Given the description of an element on the screen output the (x, y) to click on. 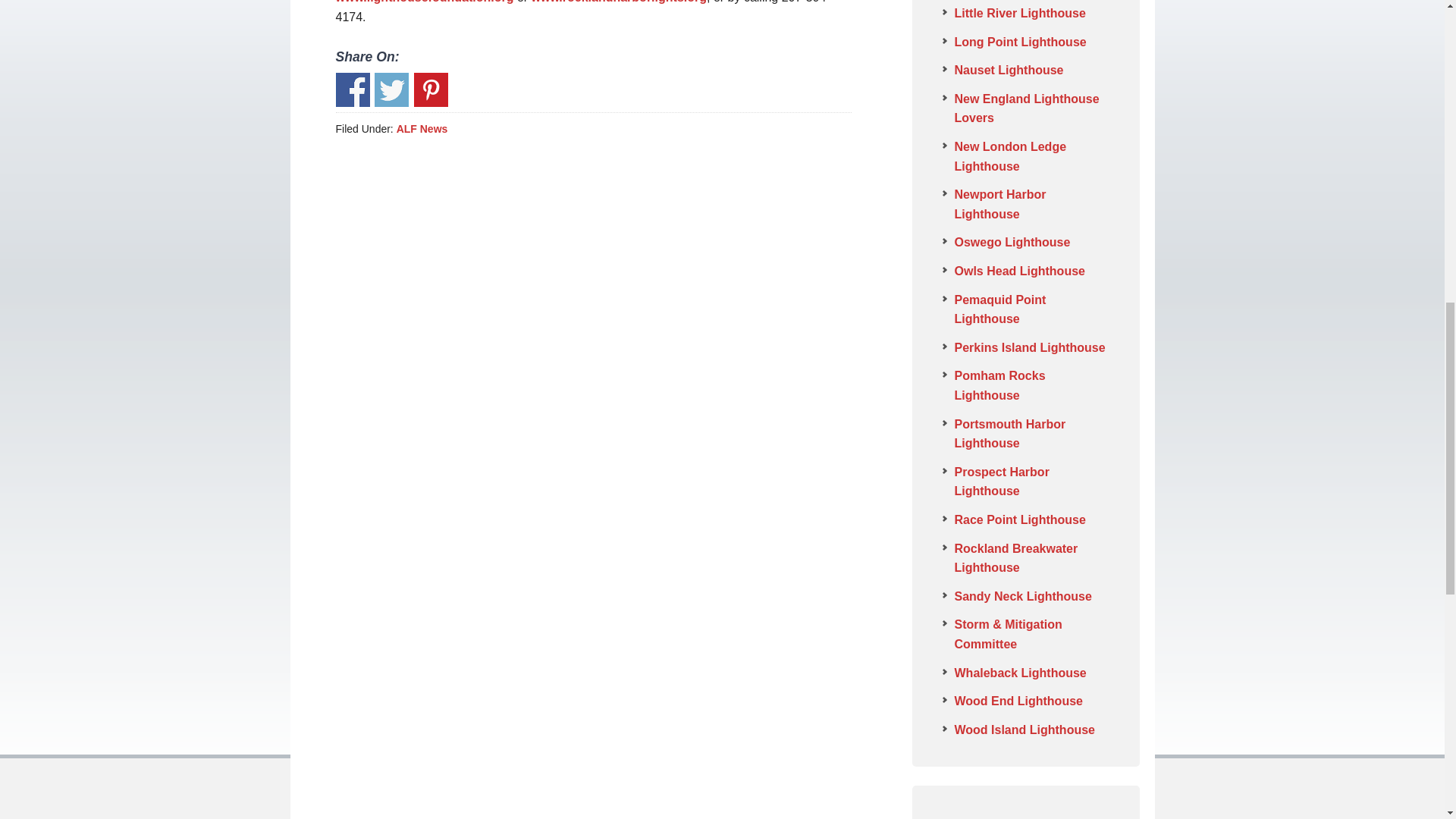
Share on Twitter (391, 89)
ALF News (422, 128)
Share on Pinterest (430, 89)
www.rocklandharborlights.org (618, 2)
www.lighthousefoundation.org (423, 2)
Share on Facebook (351, 89)
